Given the description of an element on the screen output the (x, y) to click on. 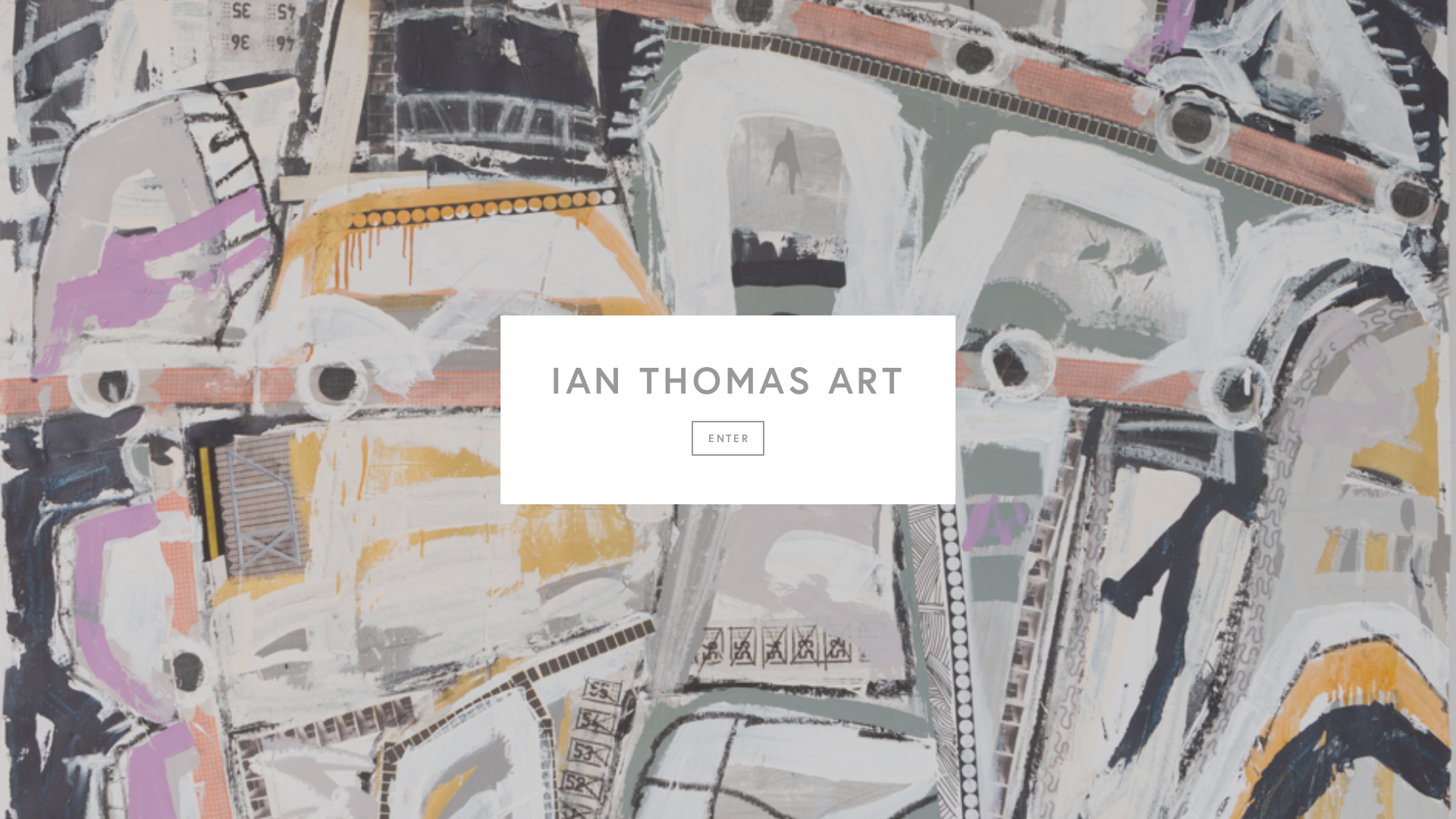
ENTER Element type: text (728, 437)
